Given the description of an element on the screen output the (x, y) to click on. 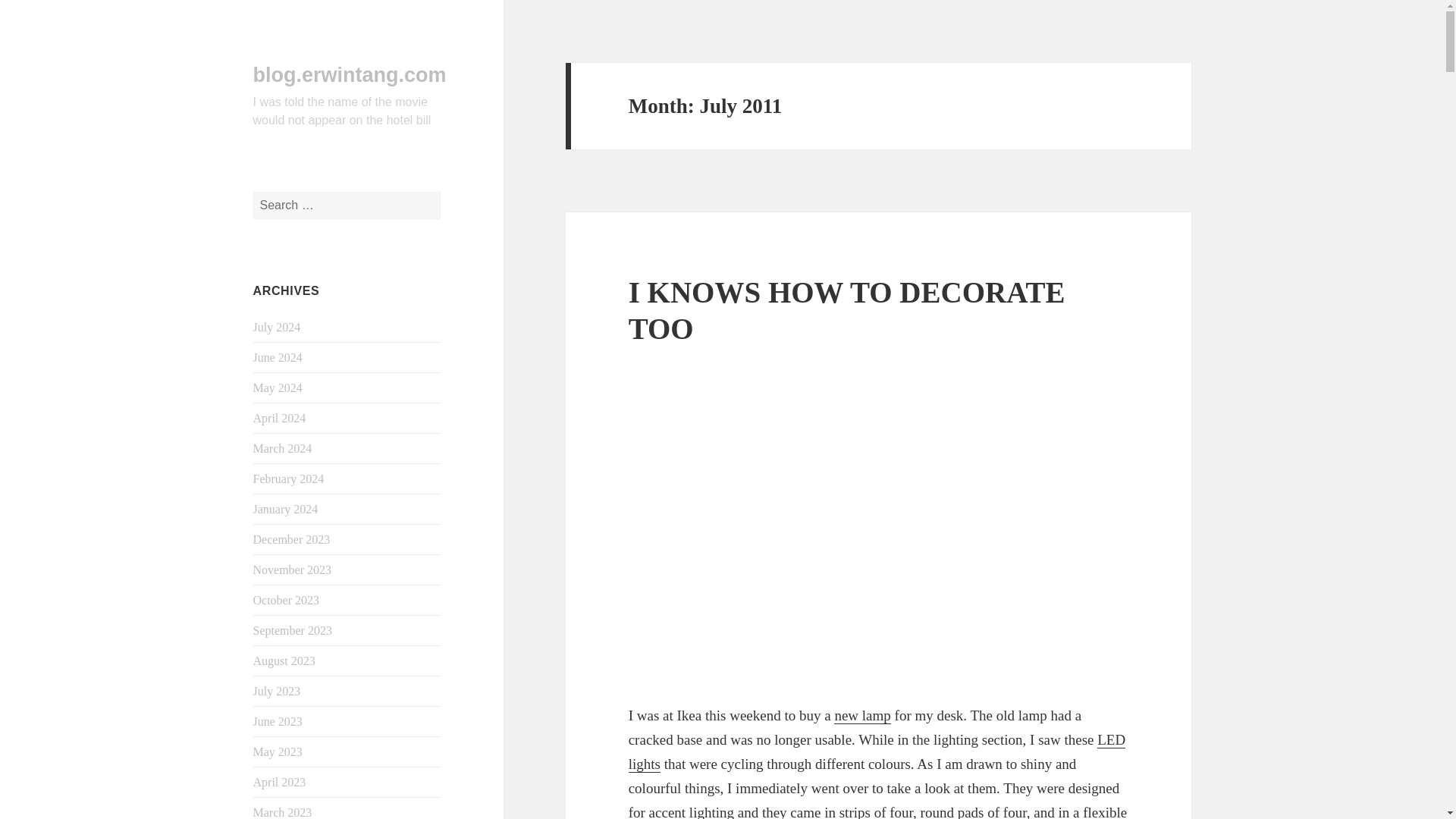
June 2024 (277, 357)
April 2024 (279, 418)
January 2024 (285, 508)
July 2024 (277, 327)
February 2024 (288, 478)
August 2023 (284, 660)
May 2023 (277, 751)
June 2023 (277, 721)
April 2023 (279, 781)
July 2023 (277, 690)
September 2023 (292, 630)
May 2024 (277, 387)
October 2023 (286, 599)
March 2024 (283, 448)
